Given the description of an element on the screen output the (x, y) to click on. 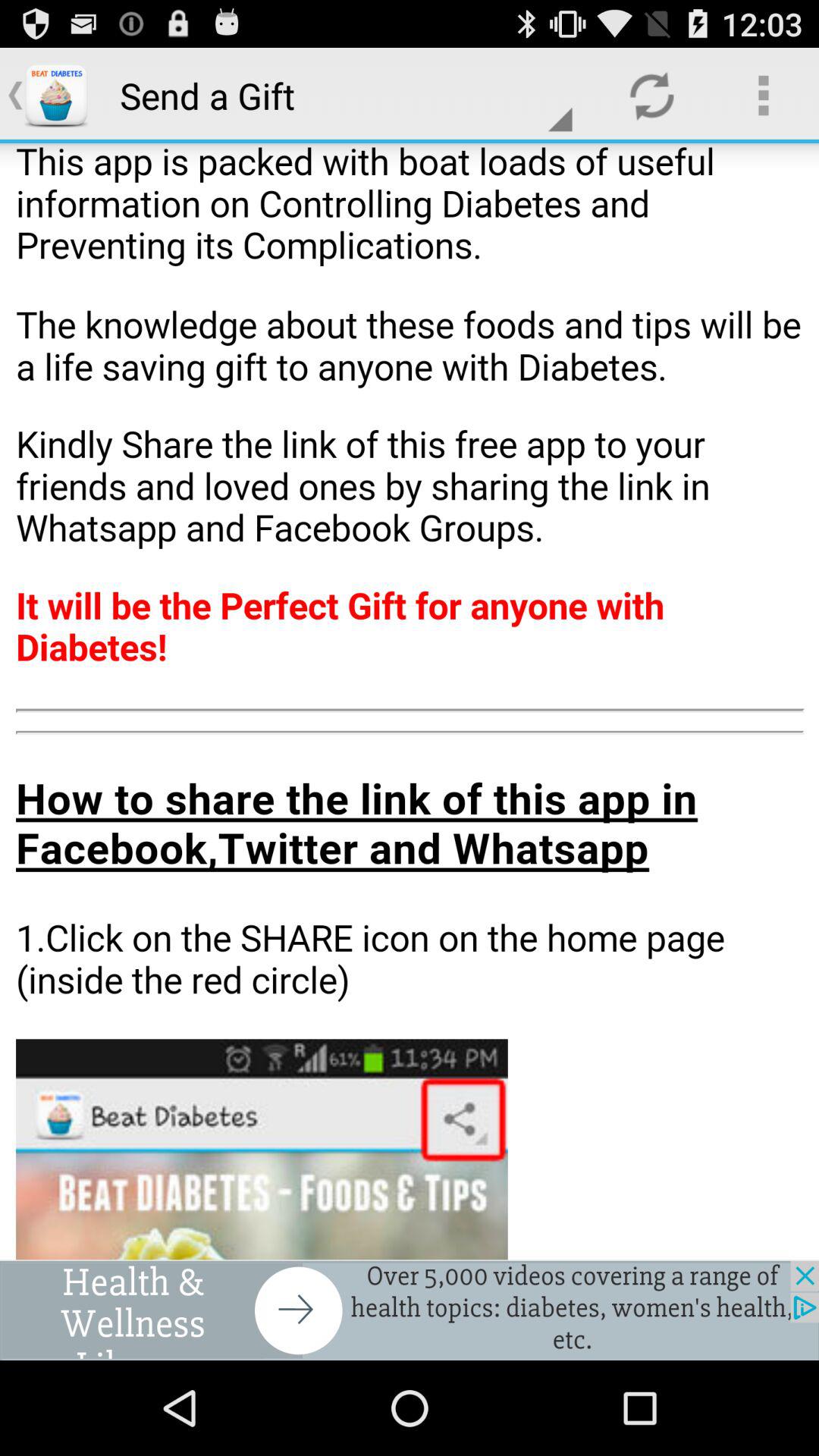
open page (409, 701)
